Given the description of an element on the screen output the (x, y) to click on. 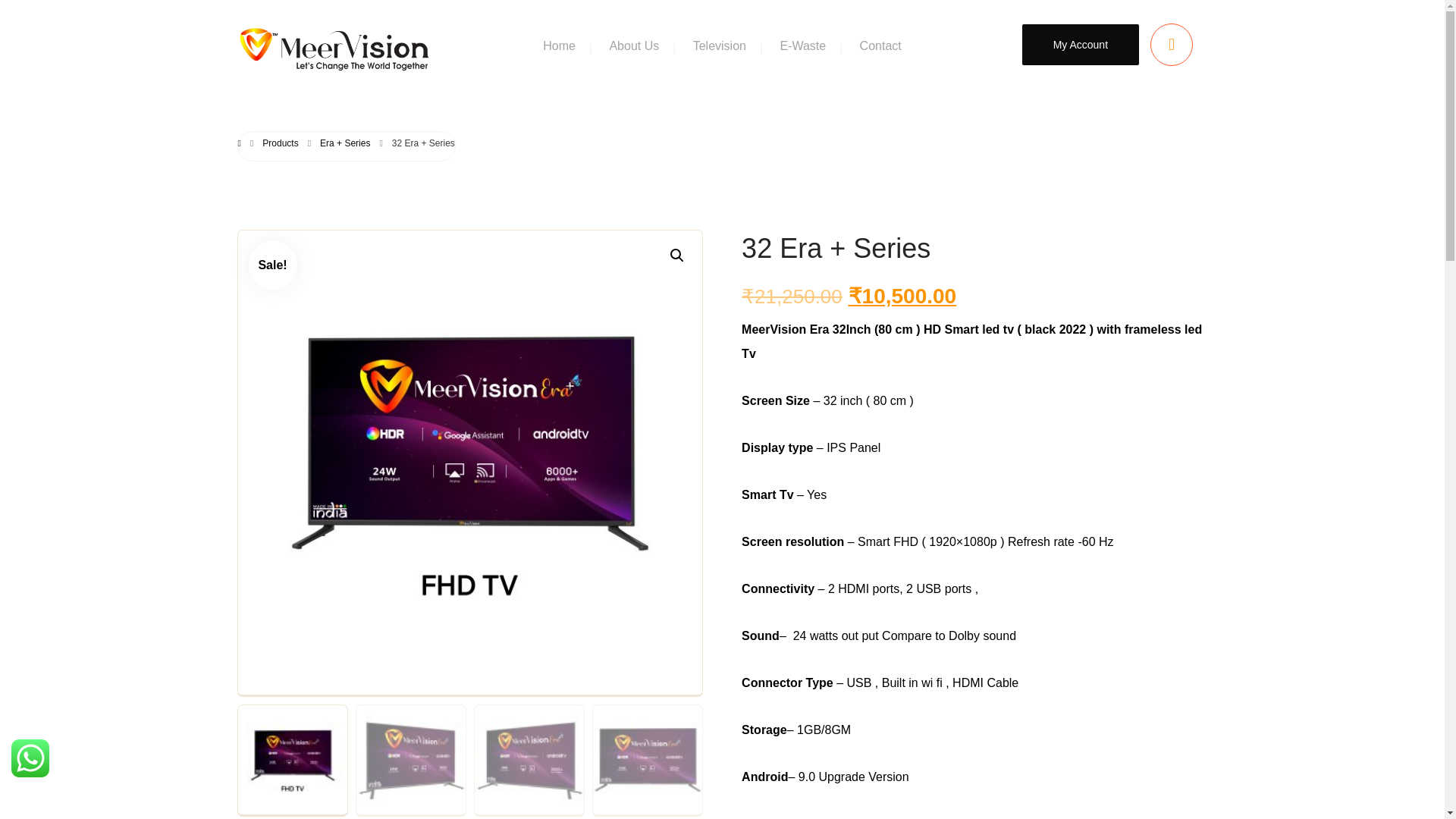
Home (559, 47)
About Us (633, 47)
Smart LED TVs (332, 50)
Television (719, 47)
E-Waste (801, 47)
Products (280, 143)
My Account (1080, 44)
Contact (880, 47)
